Given the description of an element on the screen output the (x, y) to click on. 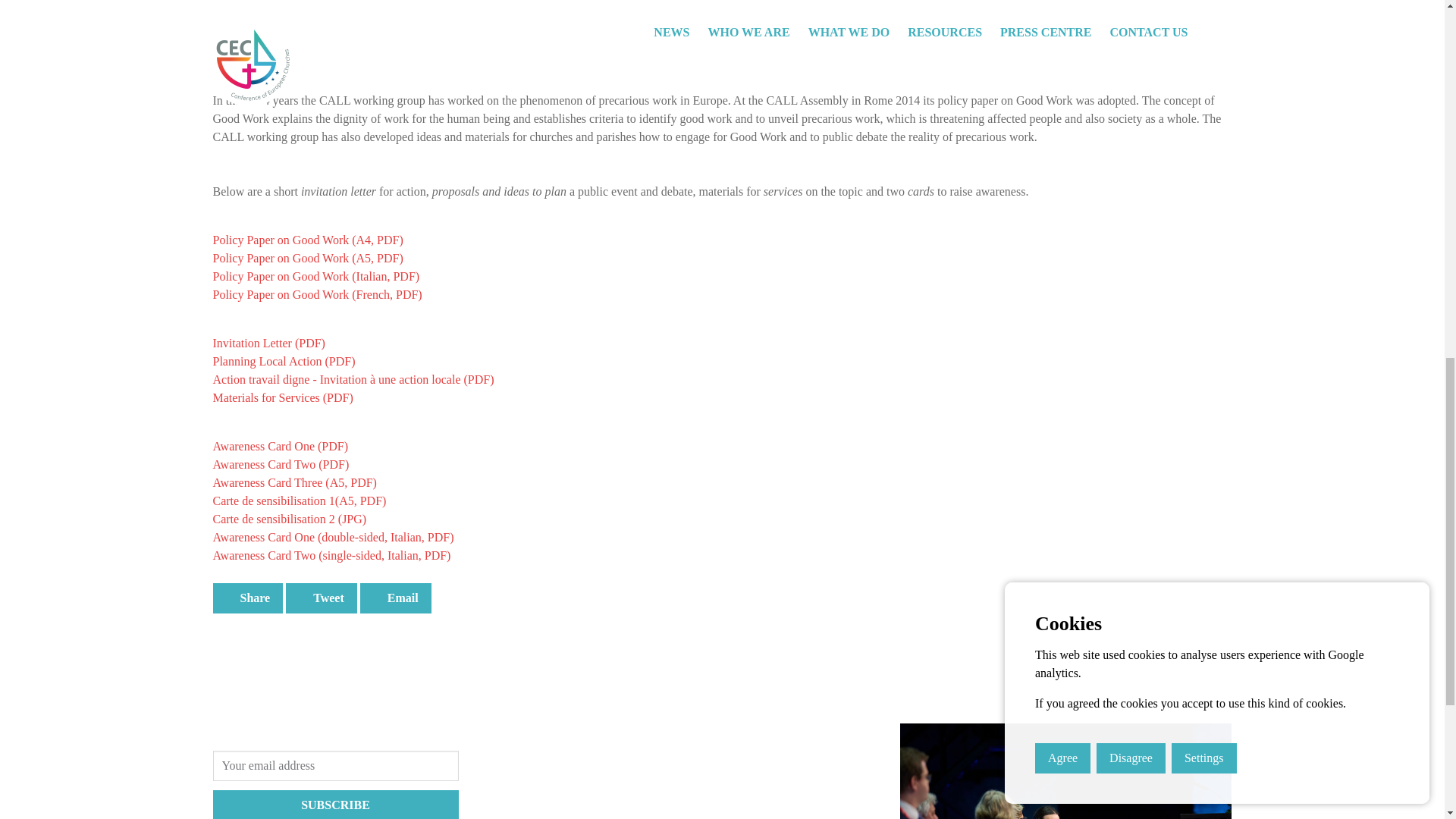
Tweet (320, 598)
SUBSCRIBE (335, 804)
Share (247, 598)
Email (394, 598)
